Given the description of an element on the screen output the (x, y) to click on. 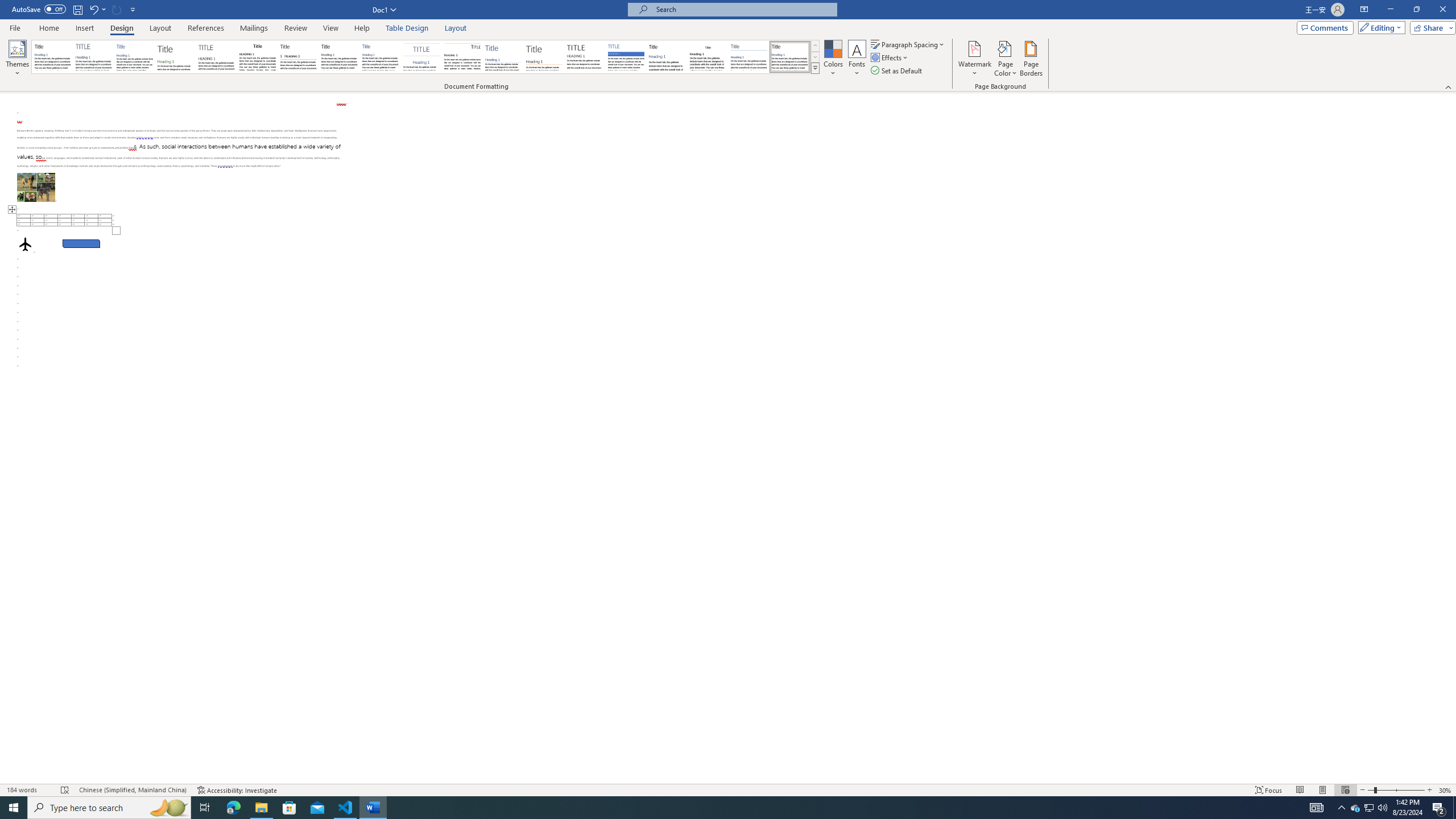
Fonts (856, 58)
Casual (379, 56)
Shaded (625, 56)
Basic (Elegant) (93, 56)
Page Borders... (1031, 58)
Lines (Simple) (503, 56)
Style Set (814, 67)
